Given the description of an element on the screen output the (x, y) to click on. 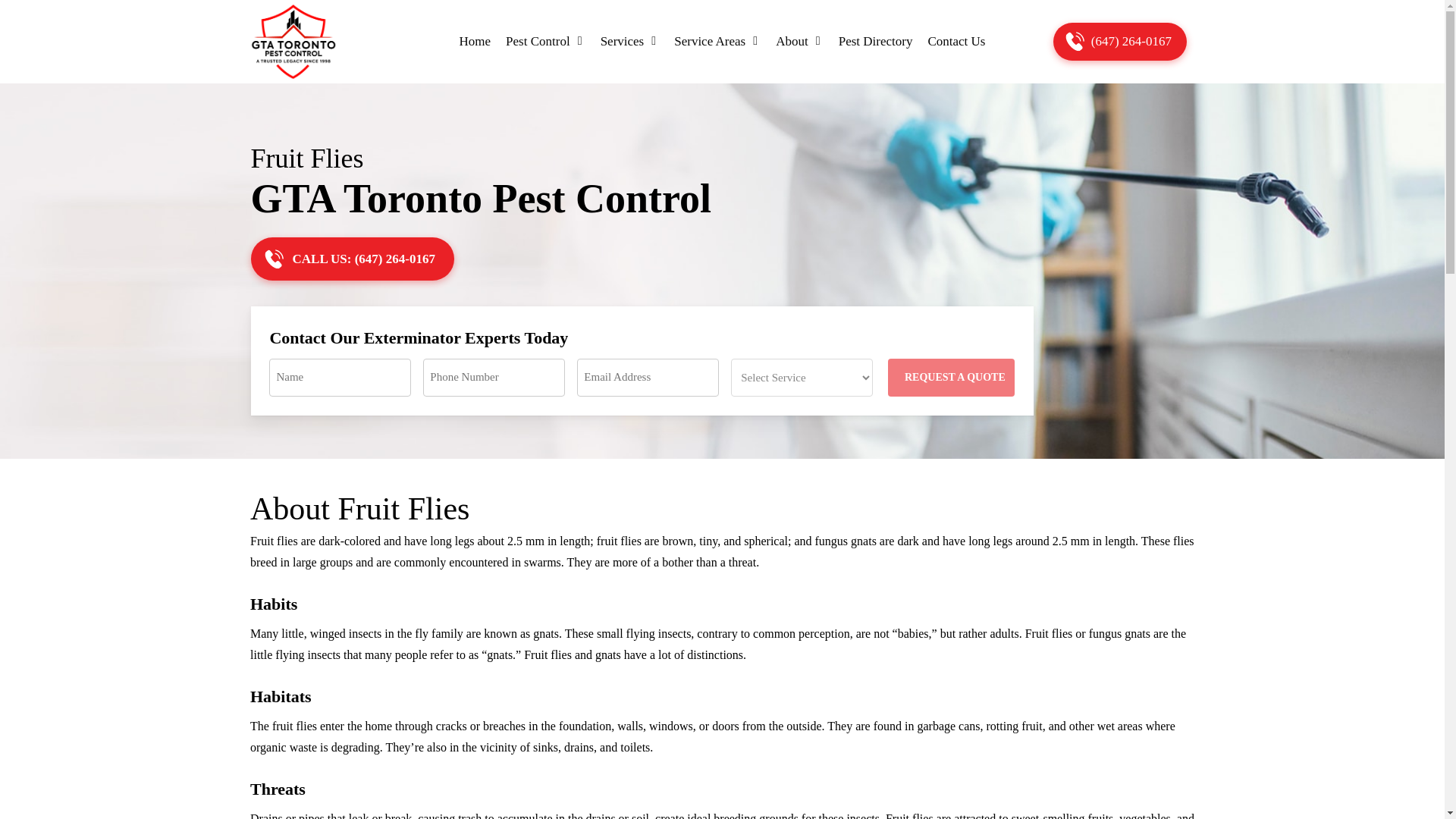
Home (475, 41)
Service Areas (717, 41)
Pest Control (544, 41)
Services (629, 41)
Request a Quote (951, 377)
